Given the description of an element on the screen output the (x, y) to click on. 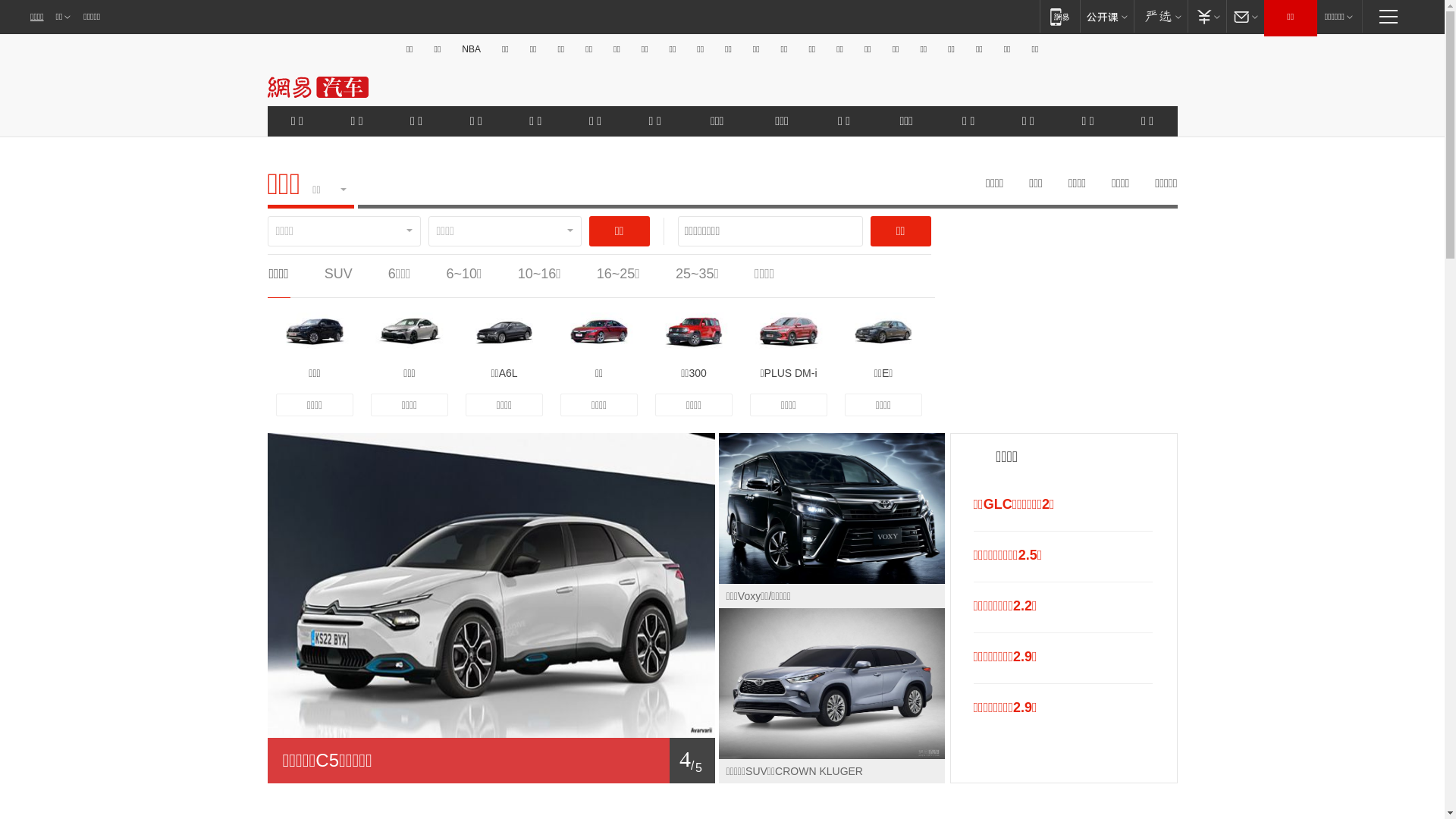
NBA Element type: text (471, 48)
SUV Element type: text (338, 273)
1/ 5 Element type: text (490, 760)
